Given the description of an element on the screen output the (x, y) to click on. 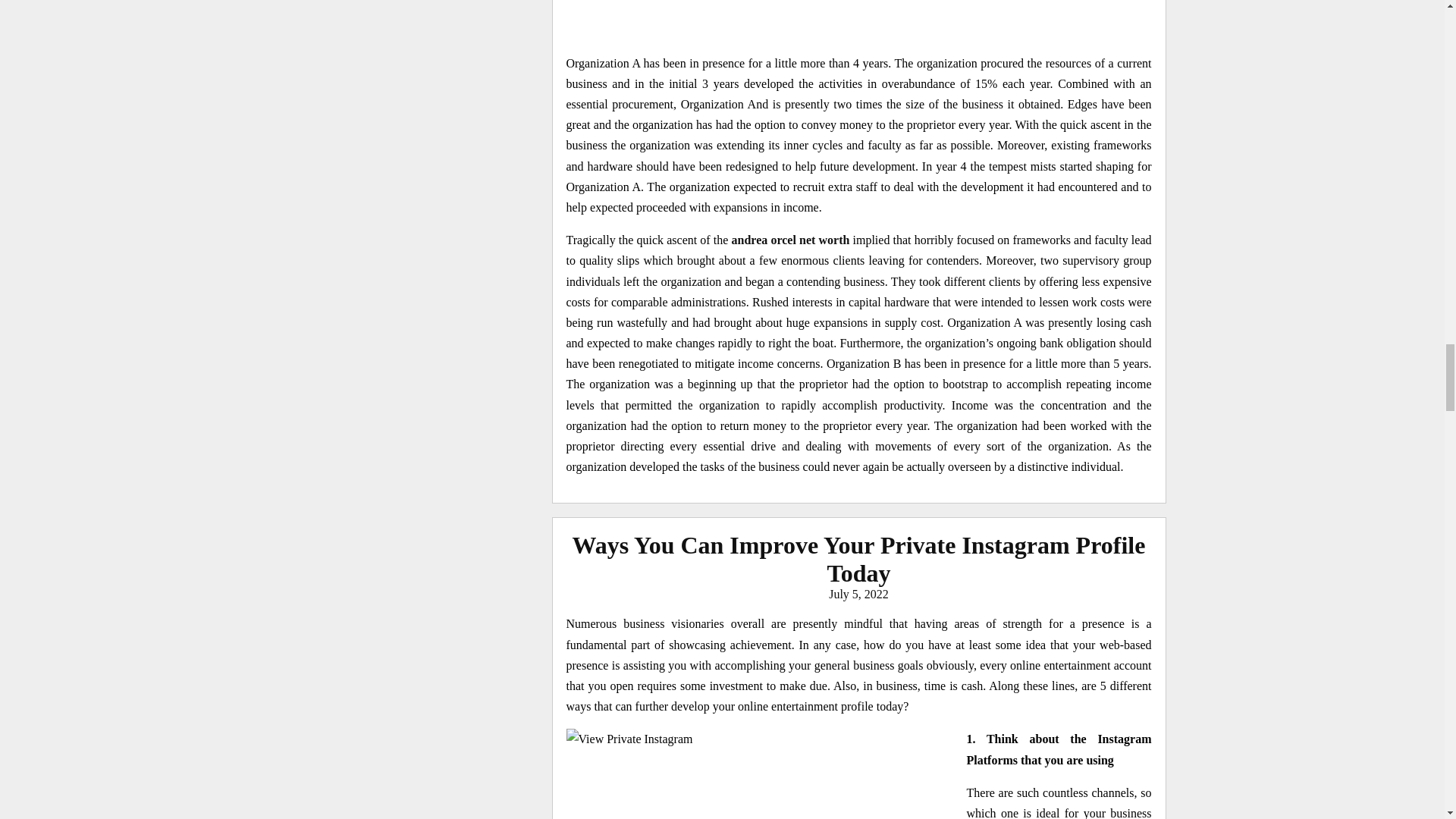
July 5, 2022 (858, 594)
Ways You Can Improve Your Private Instagram Profile Today (858, 559)
andrea orcel net worth (791, 239)
